Given the description of an element on the screen output the (x, y) to click on. 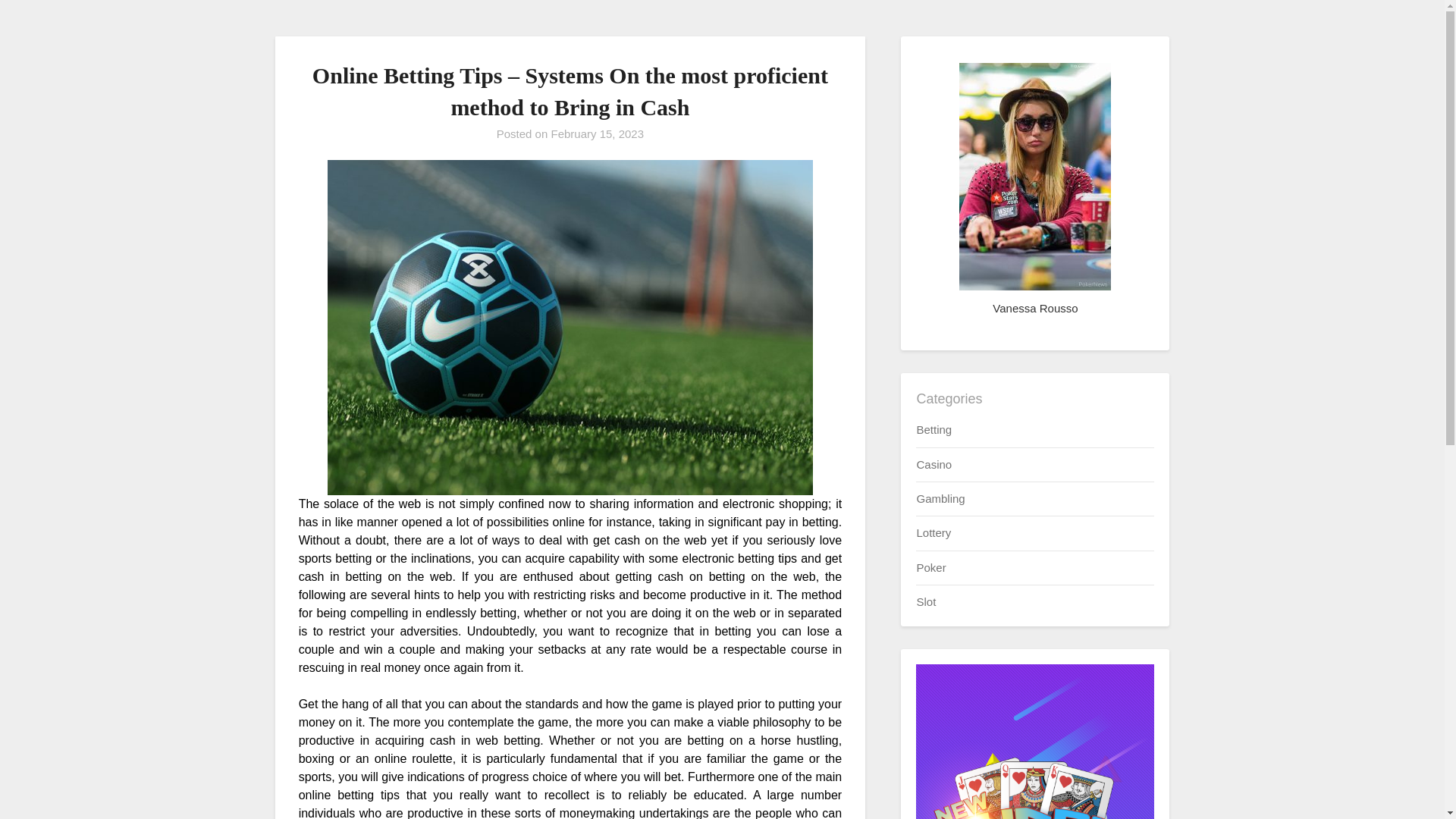
February 15, 2023 (596, 133)
Poker (929, 567)
Casino (933, 463)
Gambling (939, 498)
Lottery (932, 532)
Slot (925, 601)
Betting (933, 429)
